Given the description of an element on the screen output the (x, y) to click on. 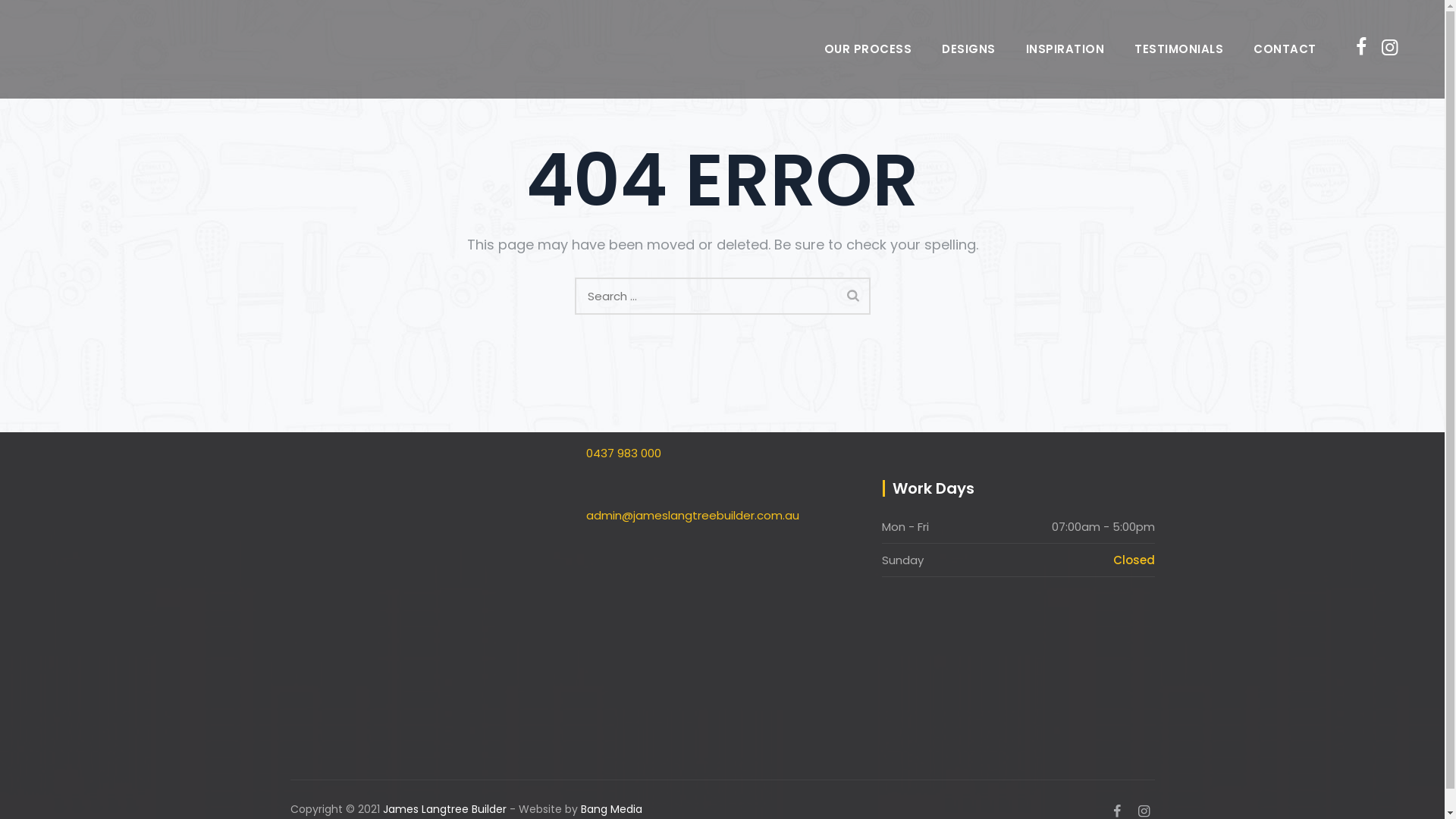
OUR PROCESS Element type: text (867, 49)
INSPIRATION Element type: text (1065, 49)
TESTIMONIALS Element type: text (1178, 49)
James Langtree Builder Element type: hover (69, 49)
CONTACT Element type: text (1284, 49)
James Langtree Builder Element type: text (443, 808)
DESIGNS Element type: text (968, 49)
admin@jameslangtreebuilder.com.au Element type: text (721, 514)
Bang Media Element type: text (611, 808)
0437 983 000 Element type: text (721, 452)
Search Element type: text (852, 294)
